Given the description of an element on the screen output the (x, y) to click on. 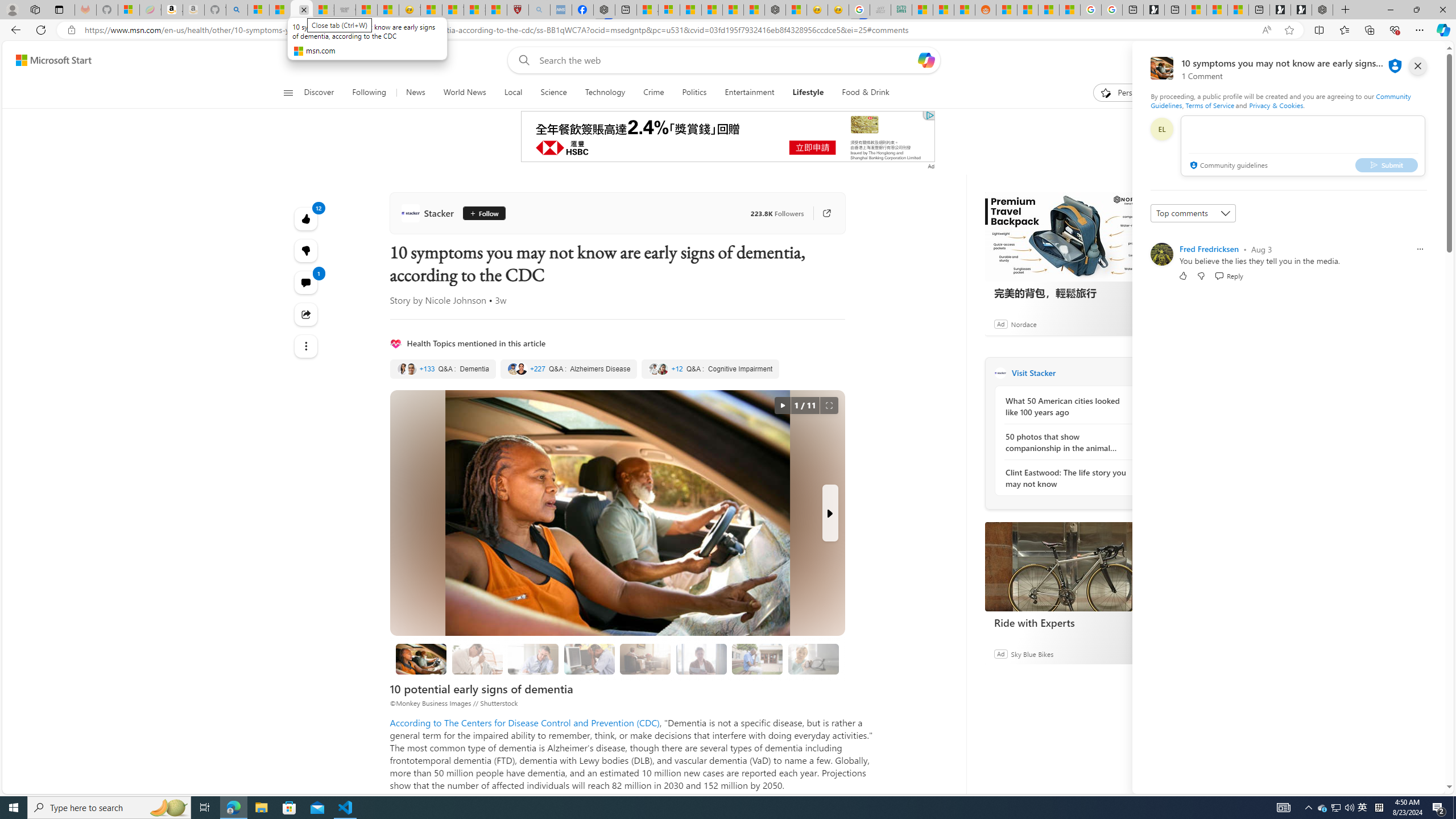
Nordace - Nordace Siena Is Not An Ordinary Backpack (1322, 9)
Memory loss that disrupts daily life (477, 659)
12 (305, 250)
12 Like (305, 218)
Discover (319, 92)
Profile Picture (1161, 254)
Lifestyle (808, 92)
Skip to content (49, 59)
Stacker (1000, 372)
Food & Drink (865, 92)
10 potential early signs of dementia (421, 658)
list of asthma inhalers uk - Search - Sleeping (539, 9)
50 photos that show companionship in the animal kingdom (1066, 441)
